Given the description of an element on the screen output the (x, y) to click on. 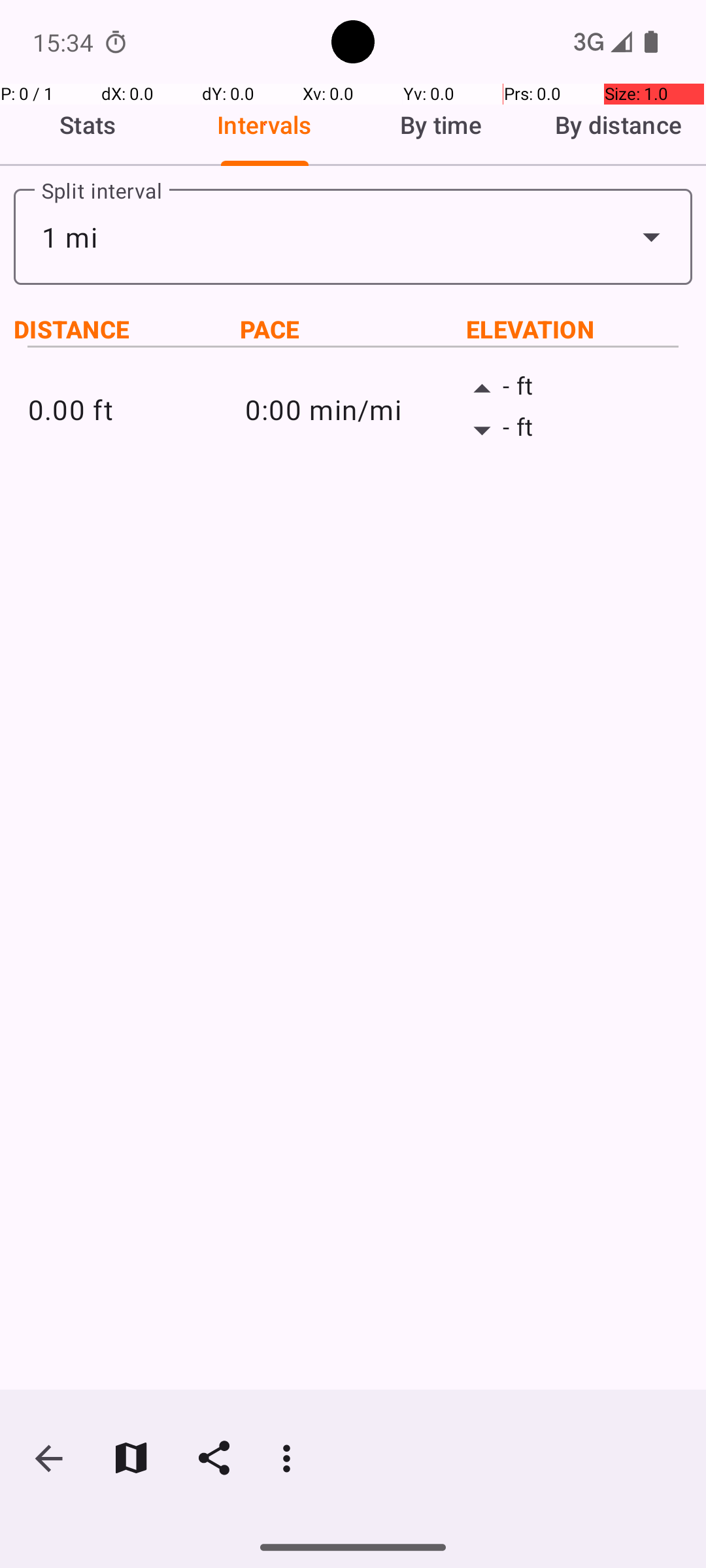
PACE Element type: android.widget.TextView (352, 328)
0:00 min/mi Element type: android.widget.TextView (352, 408)
